Given the description of an element on the screen output the (x, y) to click on. 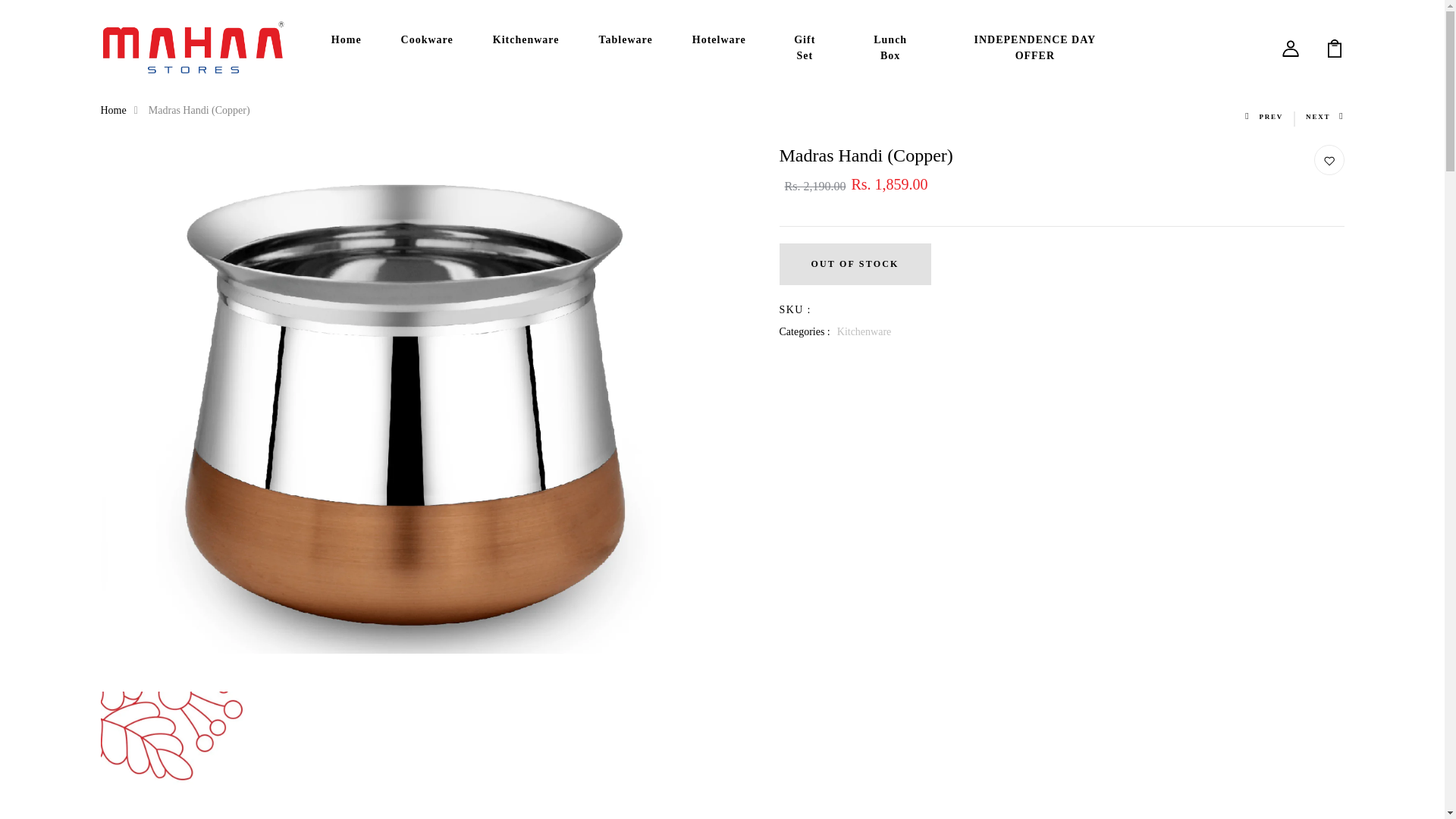
Gift Set (803, 47)
Gift Set (803, 47)
INDEPENDENCE DAY OFFER (1034, 47)
INDEPENDENCE DAY OFFER (1034, 47)
Home (346, 39)
Cookware (427, 39)
Kitchenware (526, 39)
Hotelware (718, 39)
Tableware (625, 39)
Hotelware (718, 39)
